Given the description of an element on the screen output the (x, y) to click on. 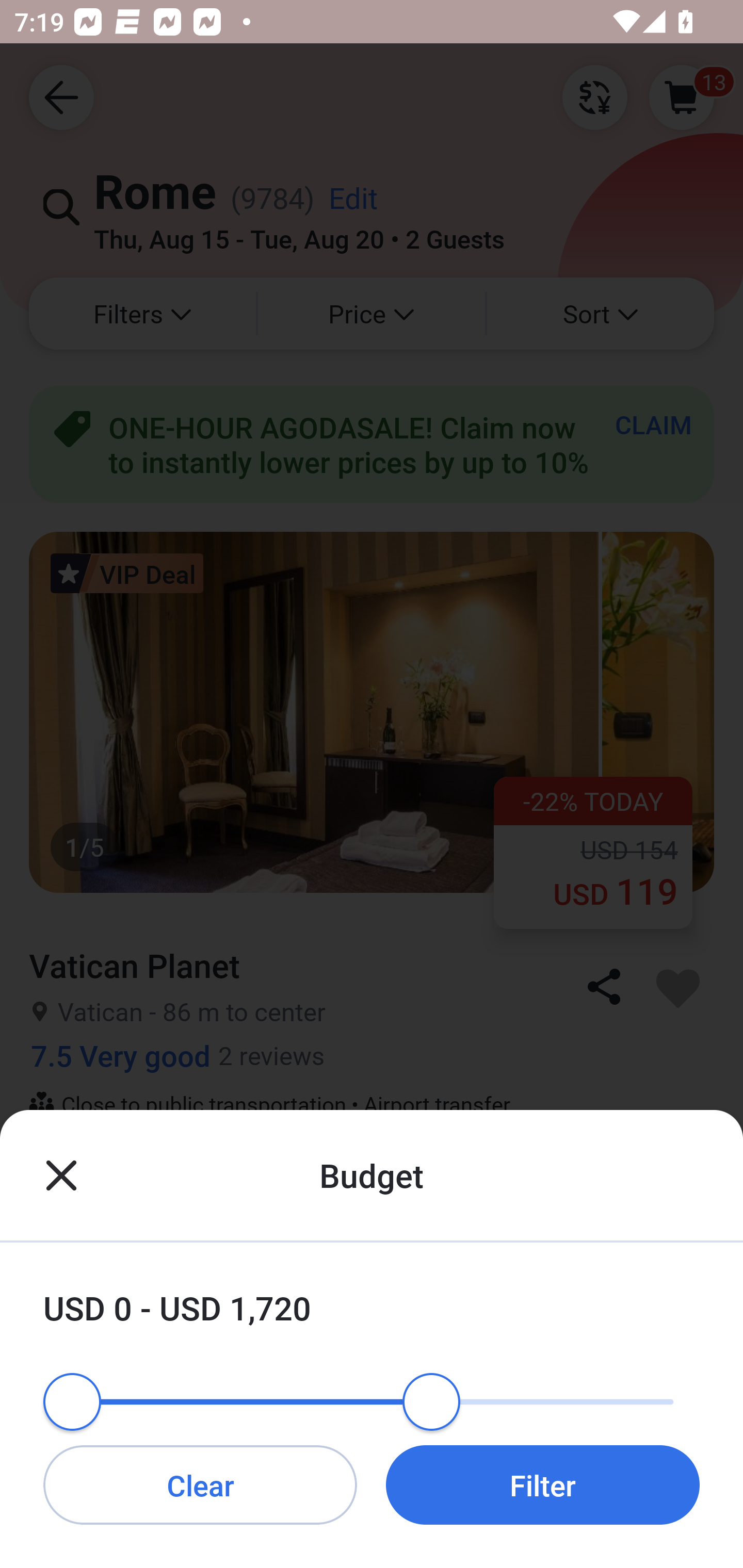
Free cancellation (371, 1169)
1/5 (371, 1415)
Clear (200, 1484)
Filter (542, 1484)
